Given the description of an element on the screen output the (x, y) to click on. 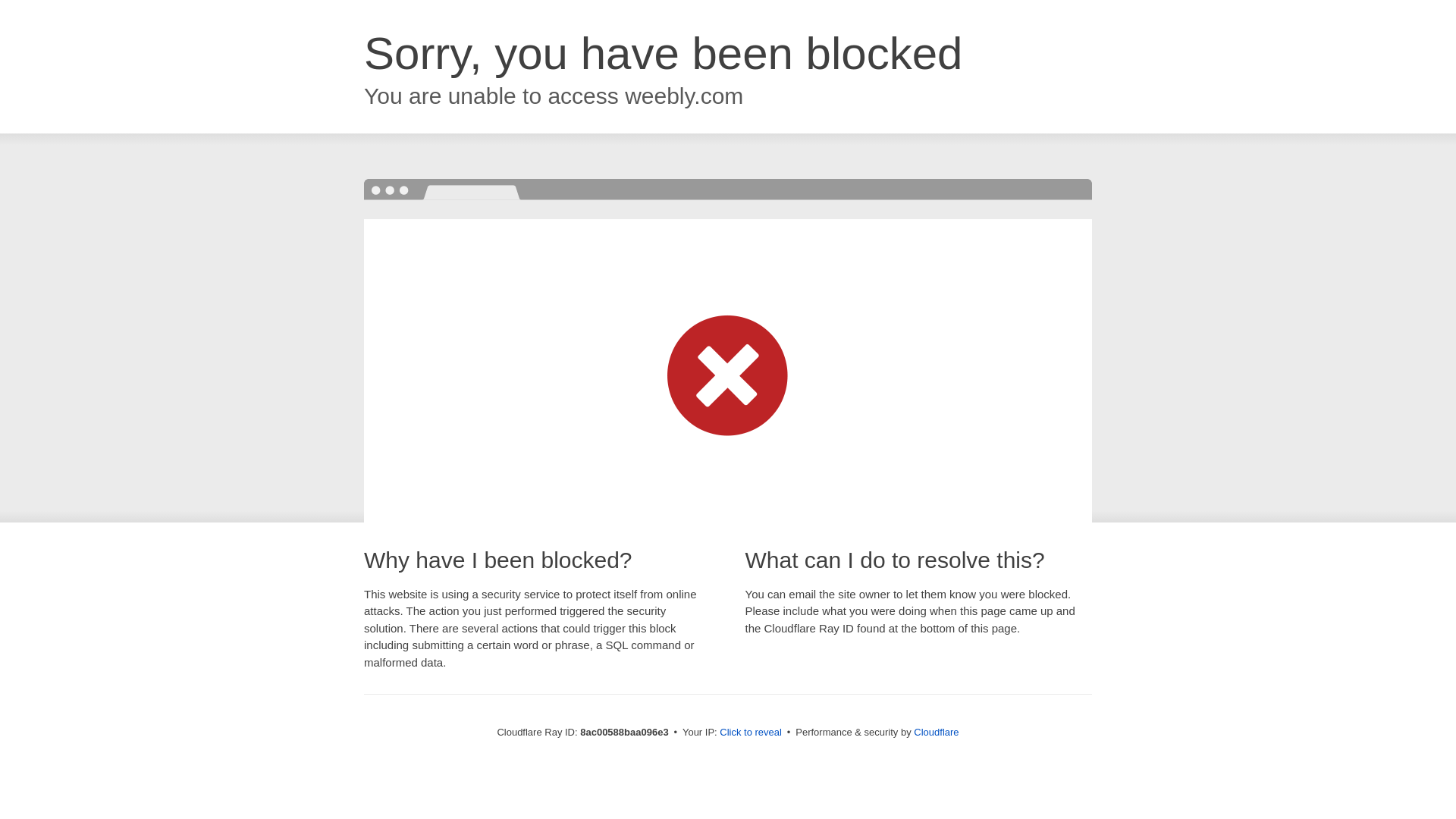
Click to reveal (750, 732)
Cloudflare (936, 731)
